Given the description of an element on the screen output the (x, y) to click on. 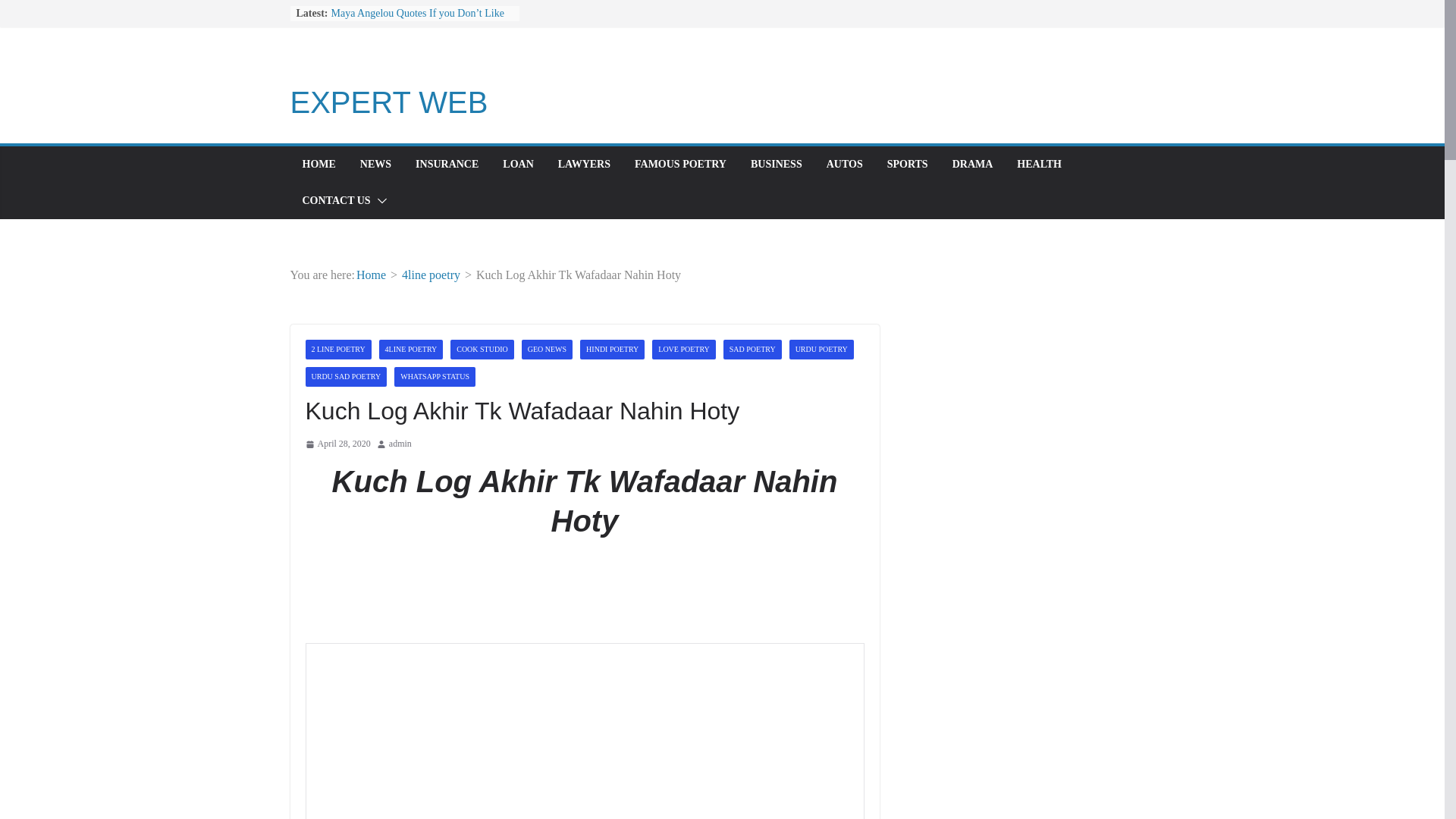
URDU POETRY (821, 349)
INSURANCE (446, 164)
AUTOS (845, 164)
SPORTS (907, 164)
Kuch Log Akhir Tk Wafadaar Nahin Hoty (584, 733)
LOVE POETRY (684, 349)
HOME (317, 164)
admin (400, 443)
8:29 pm (336, 443)
NEWS (375, 164)
admin (400, 443)
2 LINE POETRY (337, 349)
CONTACT US (335, 200)
EXPERT WEB (388, 101)
HEALTH (1038, 164)
